Given the description of an element on the screen output the (x, y) to click on. 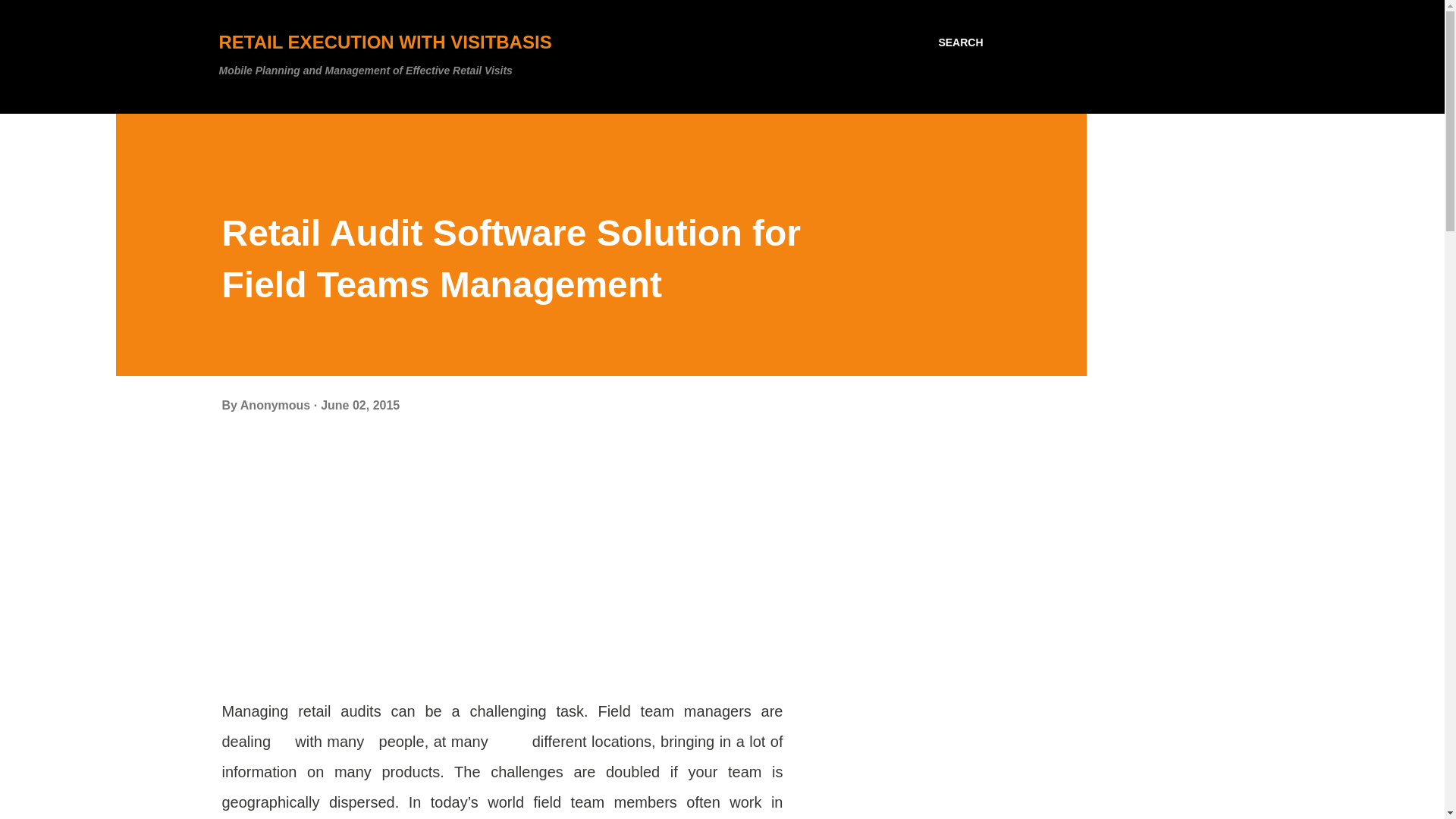
SEARCH (959, 42)
June 02, 2015 (359, 404)
RETAIL EXECUTION WITH VISITBASIS (384, 41)
permanent link (359, 404)
